Given the description of an element on the screen output the (x, y) to click on. 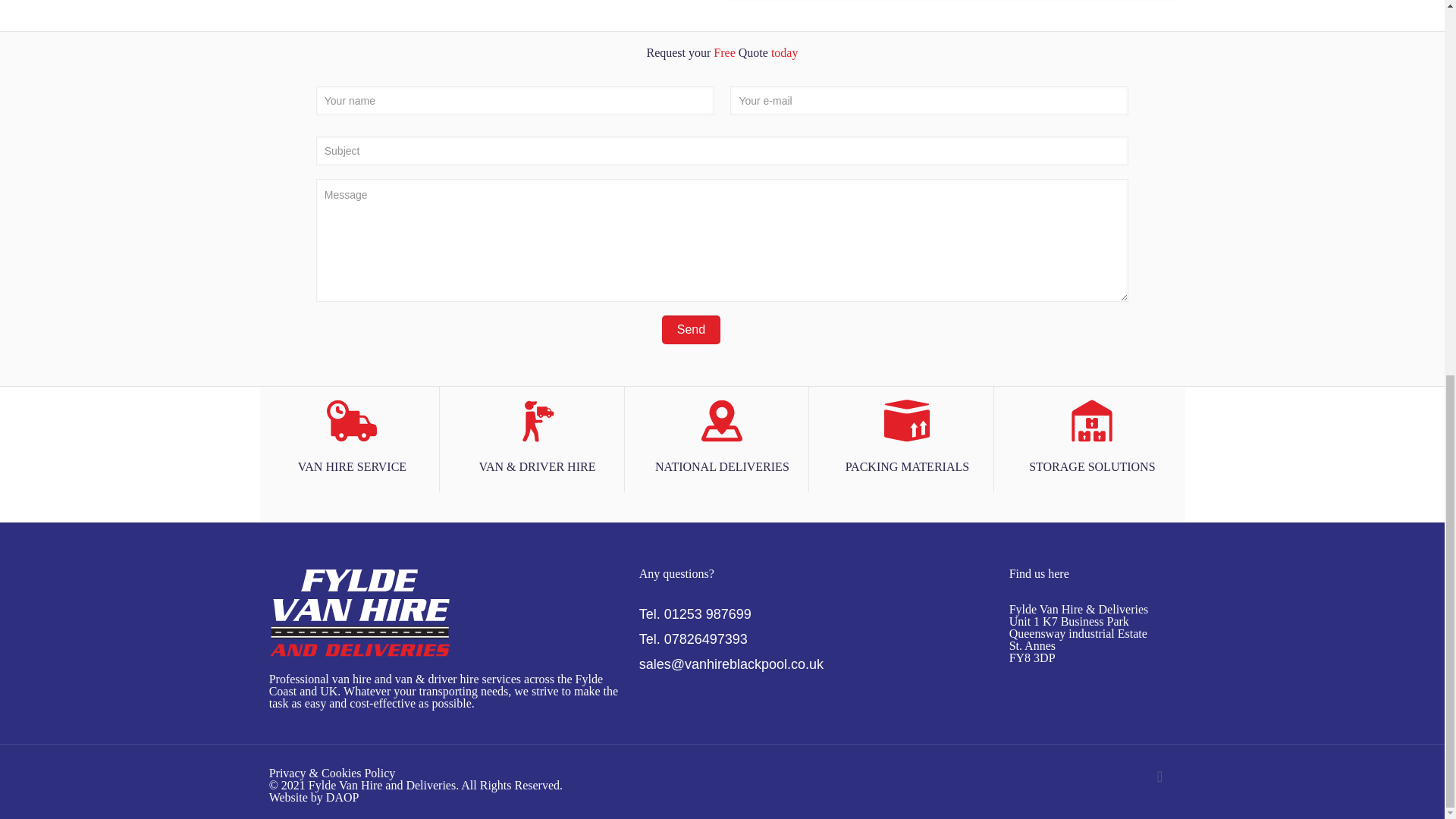
VAN HIRE SERVICE (352, 433)
Send (691, 329)
PACKING MATERIALS (907, 433)
STORAGE SOLUTIONS (1092, 433)
DAOP (342, 797)
Send (691, 329)
NATIONAL DELIVERIES (722, 433)
